Given the description of an element on the screen output the (x, y) to click on. 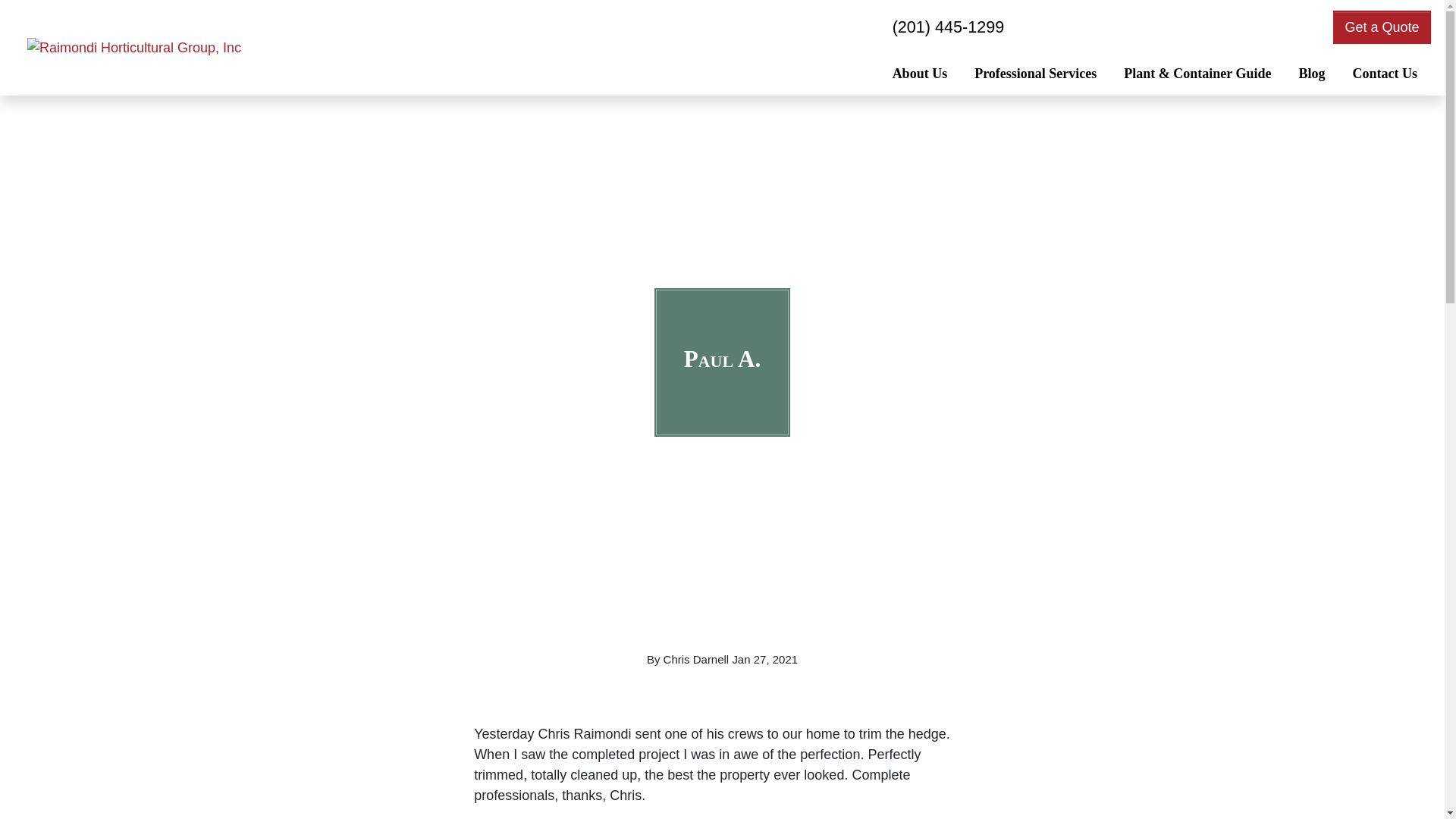
Professional Services (1034, 74)
Get a Quote (1382, 27)
Contact Us (1385, 74)
Blog (1311, 74)
About Us (919, 74)
